Given the description of an element on the screen output the (x, y) to click on. 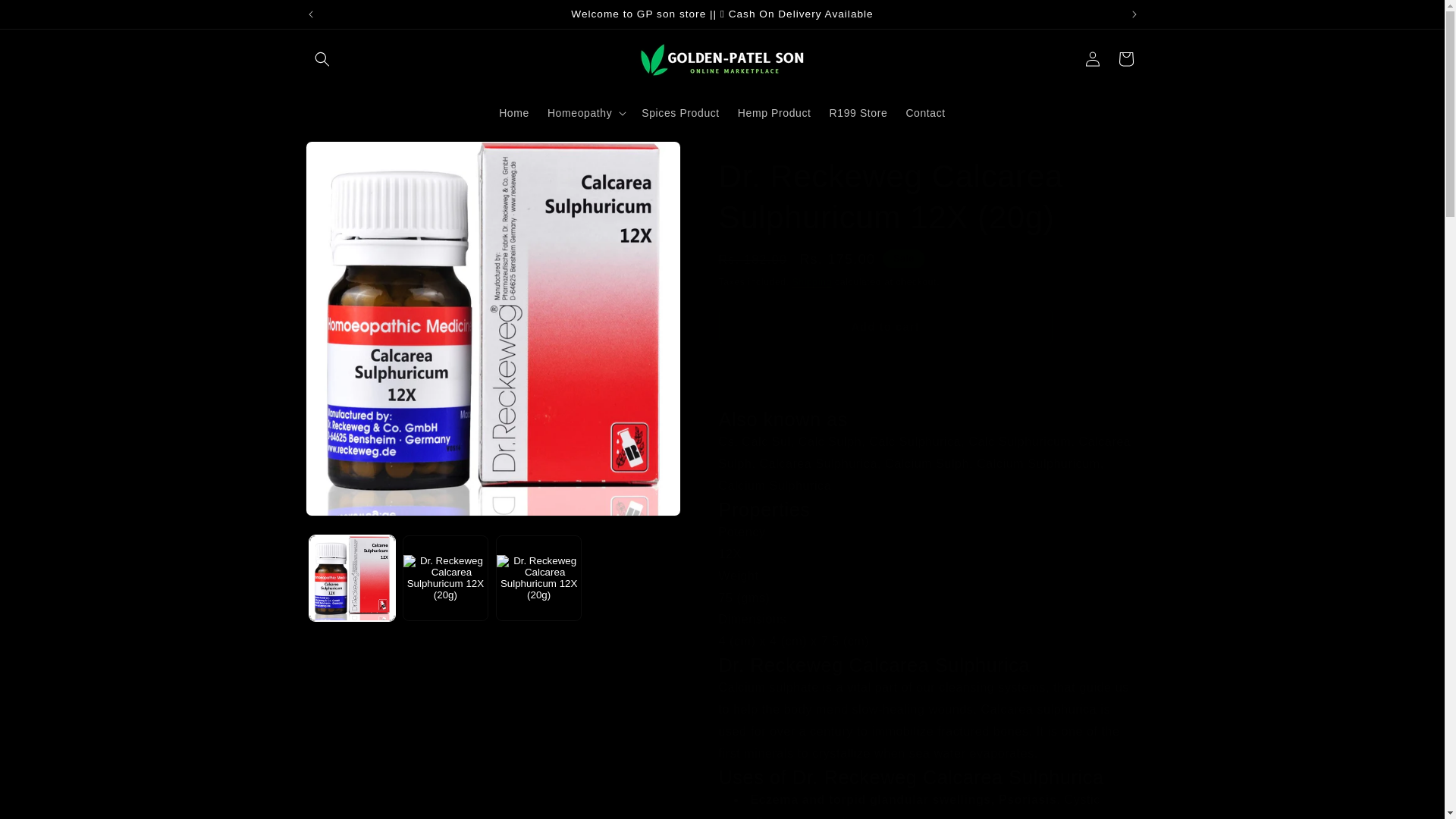
Home (513, 112)
Skip to content (45, 17)
